Given the description of an element on the screen output the (x, y) to click on. 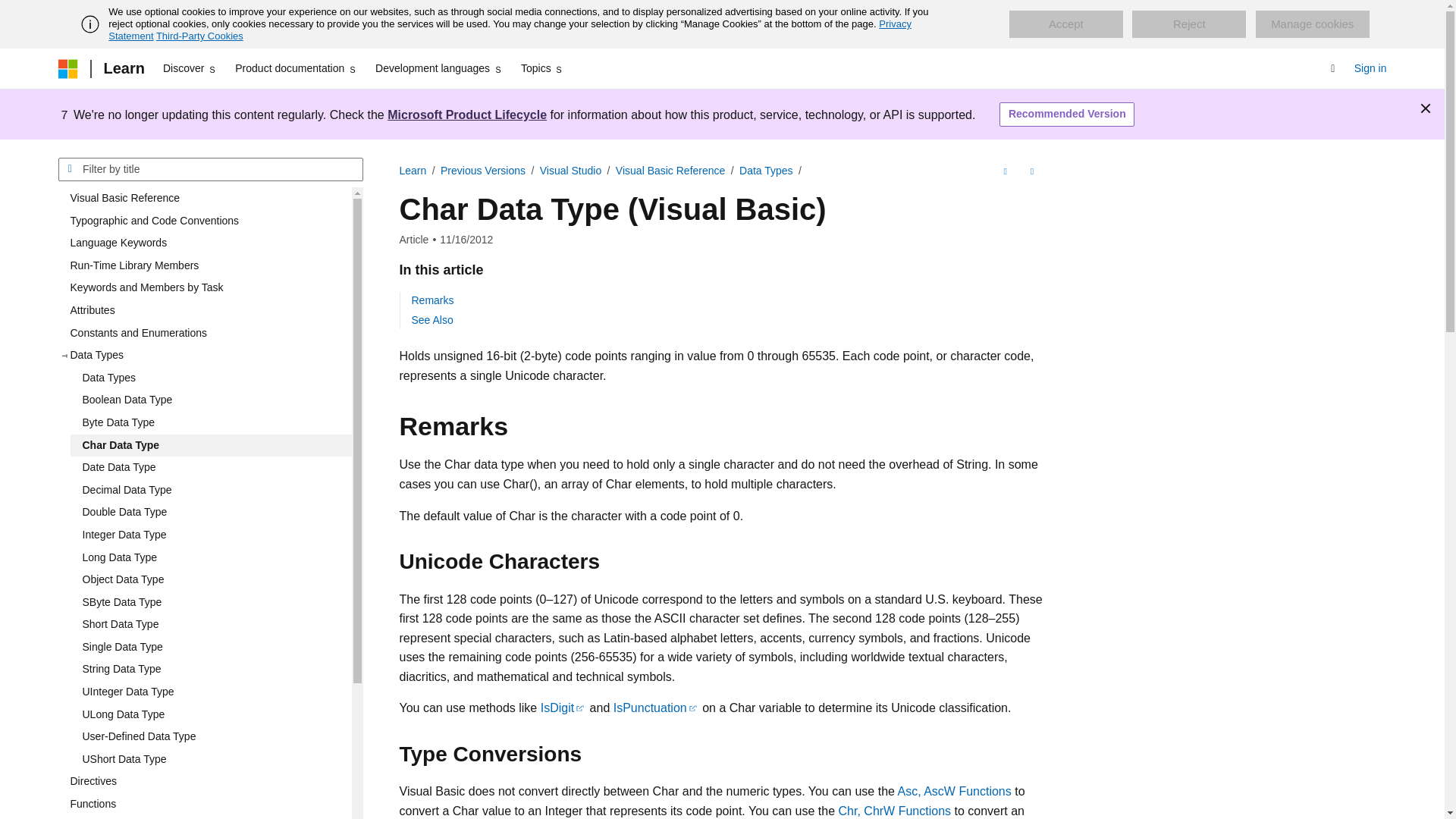
More actions (1031, 170)
Skip to main content (11, 11)
Byte Data Type (209, 422)
Visual Basic Reference (204, 198)
Product documentation (295, 68)
Dismiss alert (1425, 108)
Accept (1065, 23)
Microsoft Product Lifecycle (467, 114)
Sign in (1370, 68)
Boolean Data Type (209, 400)
Discover (189, 68)
Manage cookies (1312, 23)
Run-Time Library Members (204, 265)
Reject (1189, 23)
Privacy Statement (509, 29)
